Given the description of an element on the screen output the (x, y) to click on. 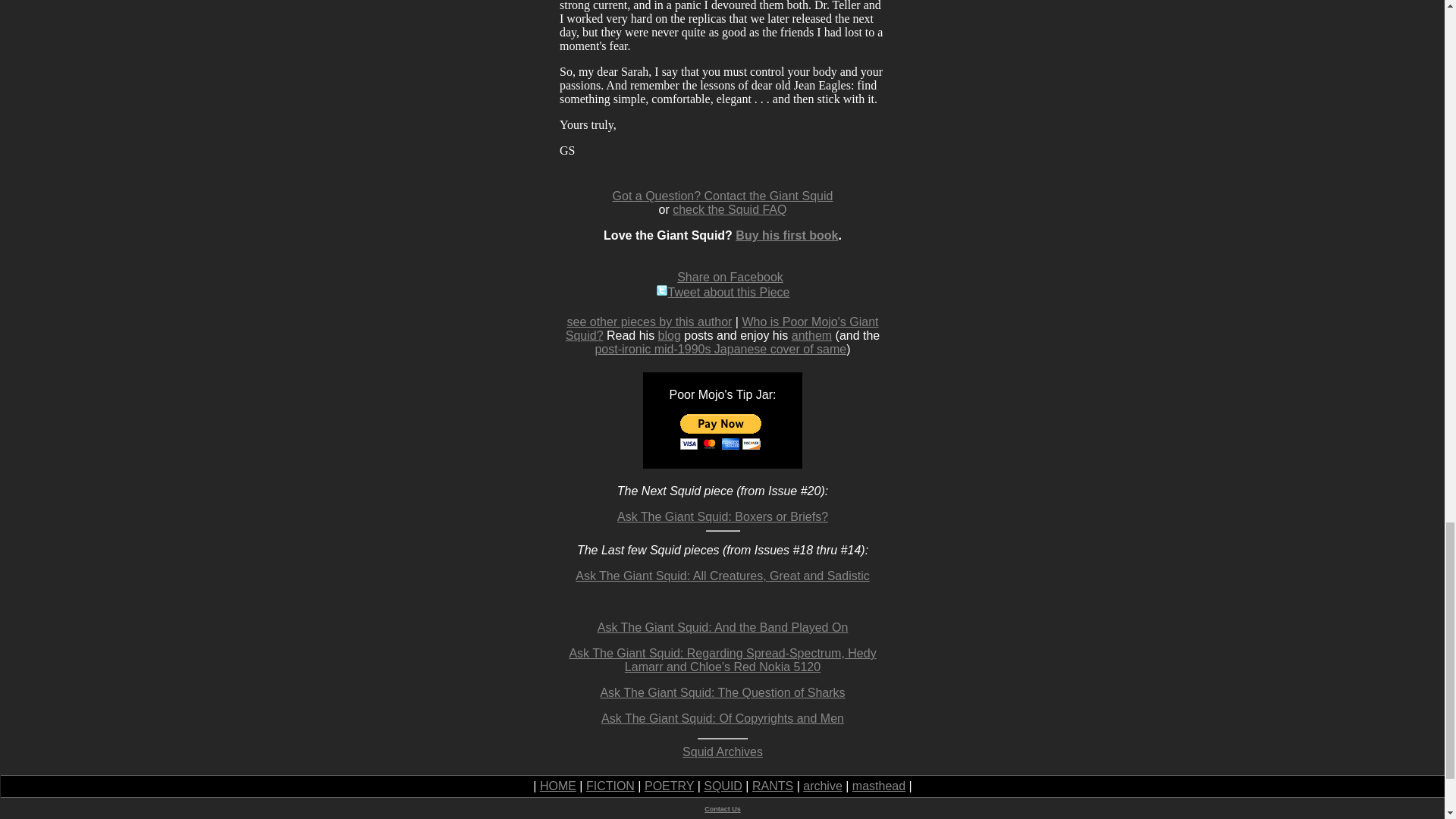
Contact Us (722, 809)
HOME (558, 785)
Buy his first book (786, 235)
blog (669, 335)
Got a Question? Contact the Giant Squid (722, 195)
post-ironic mid-1990s Japanese cover of same (719, 349)
Ask The Giant Squid: And the Band Played On (722, 626)
archive (823, 785)
see other pieces by this author (649, 321)
Ask The Giant Squid: Boxers or Briefs? (722, 516)
FICTION (610, 785)
Ask The Giant Squid: All Creatures, Great and Sadistic (722, 575)
RANTS (772, 785)
masthead (878, 785)
anthem (811, 335)
